Given the description of an element on the screen output the (x, y) to click on. 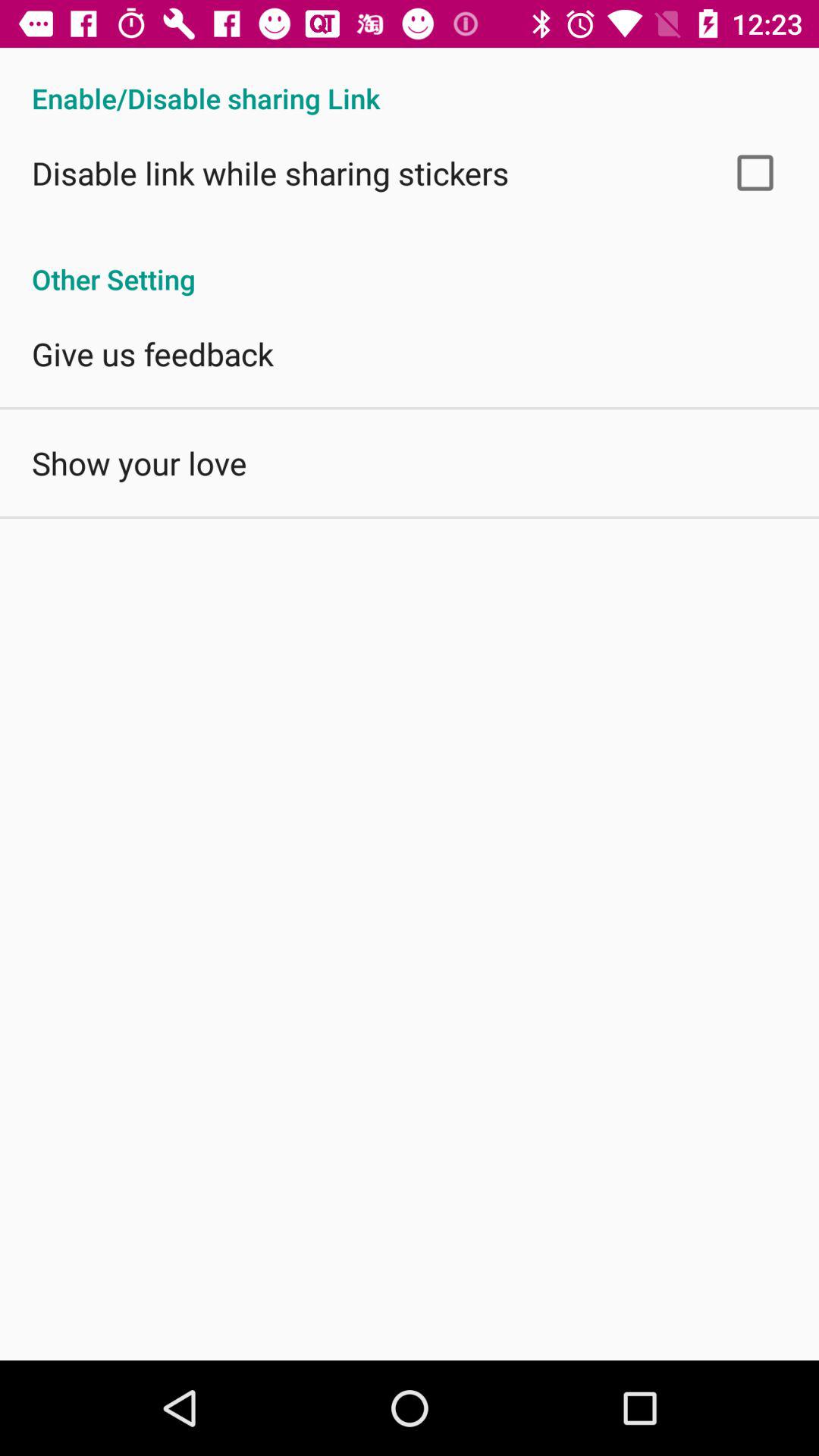
launch the icon above show your love (152, 353)
